Given the description of an element on the screen output the (x, y) to click on. 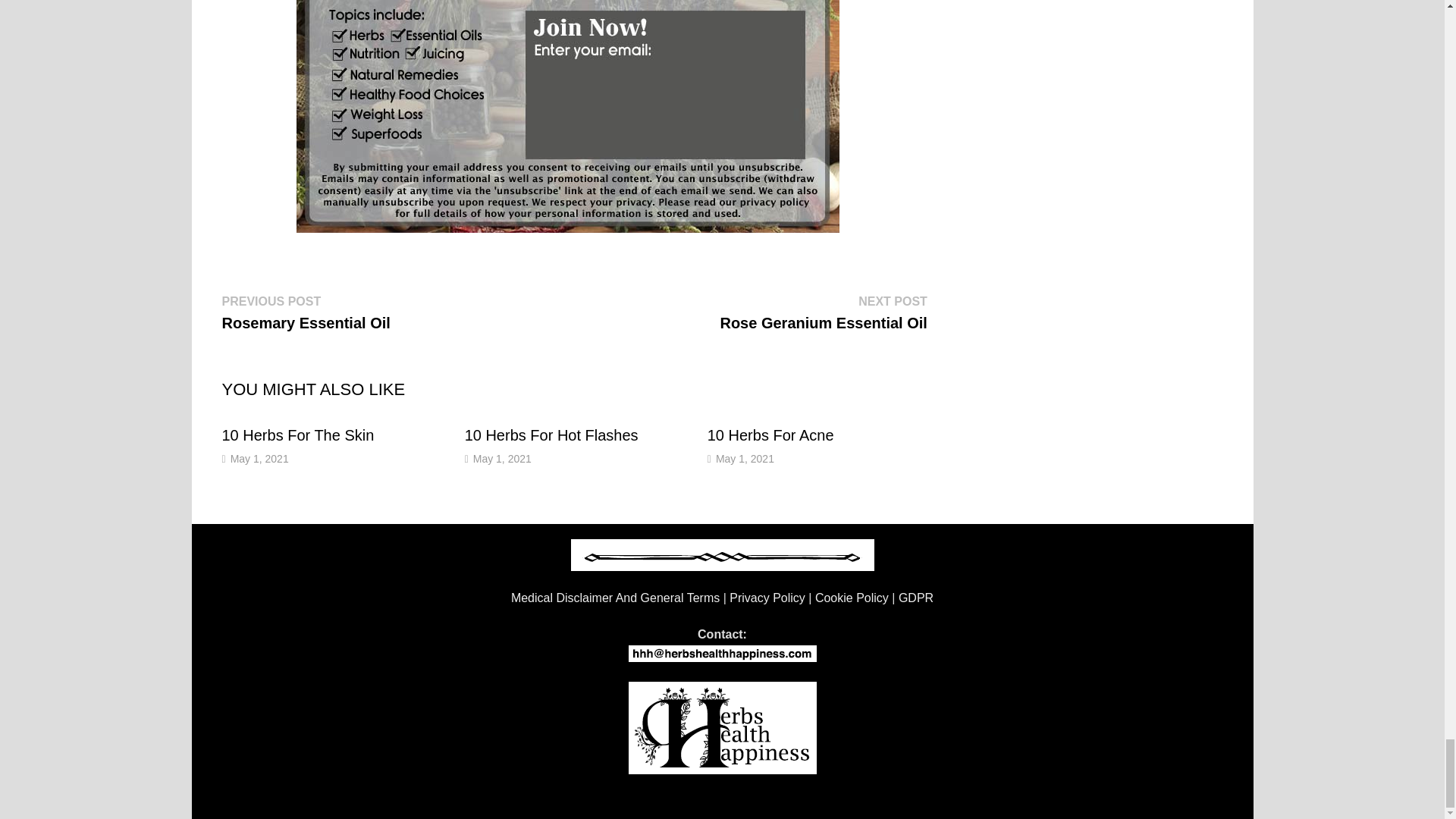
10 Herbs For Acne (770, 434)
10  Herbs For Hot Flashes (551, 434)
10 Herbs For The Skin (297, 434)
